Given the description of an element on the screen output the (x, y) to click on. 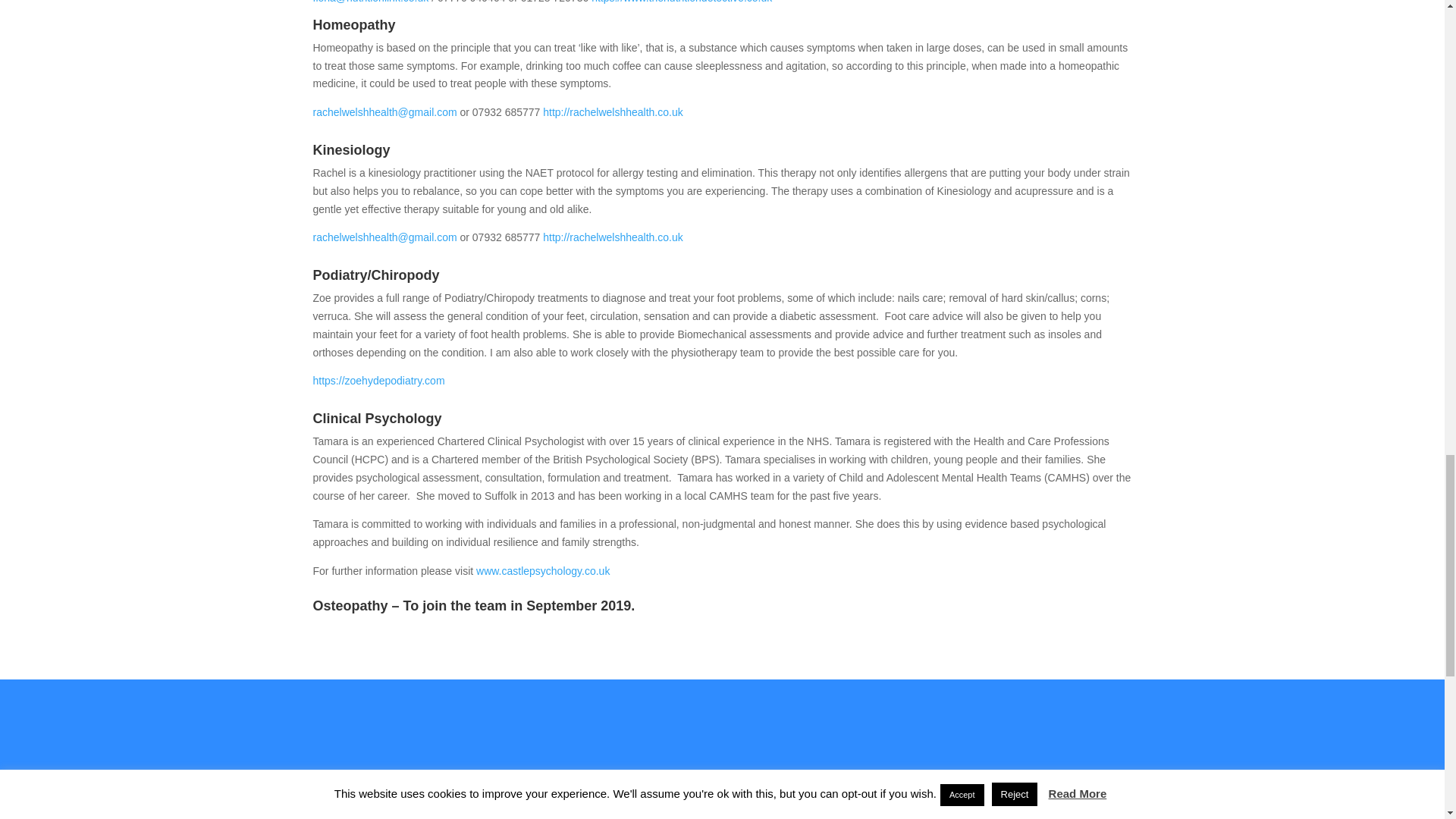
www.castlepsychology.co.uk (543, 571)
